Given the description of an element on the screen output the (x, y) to click on. 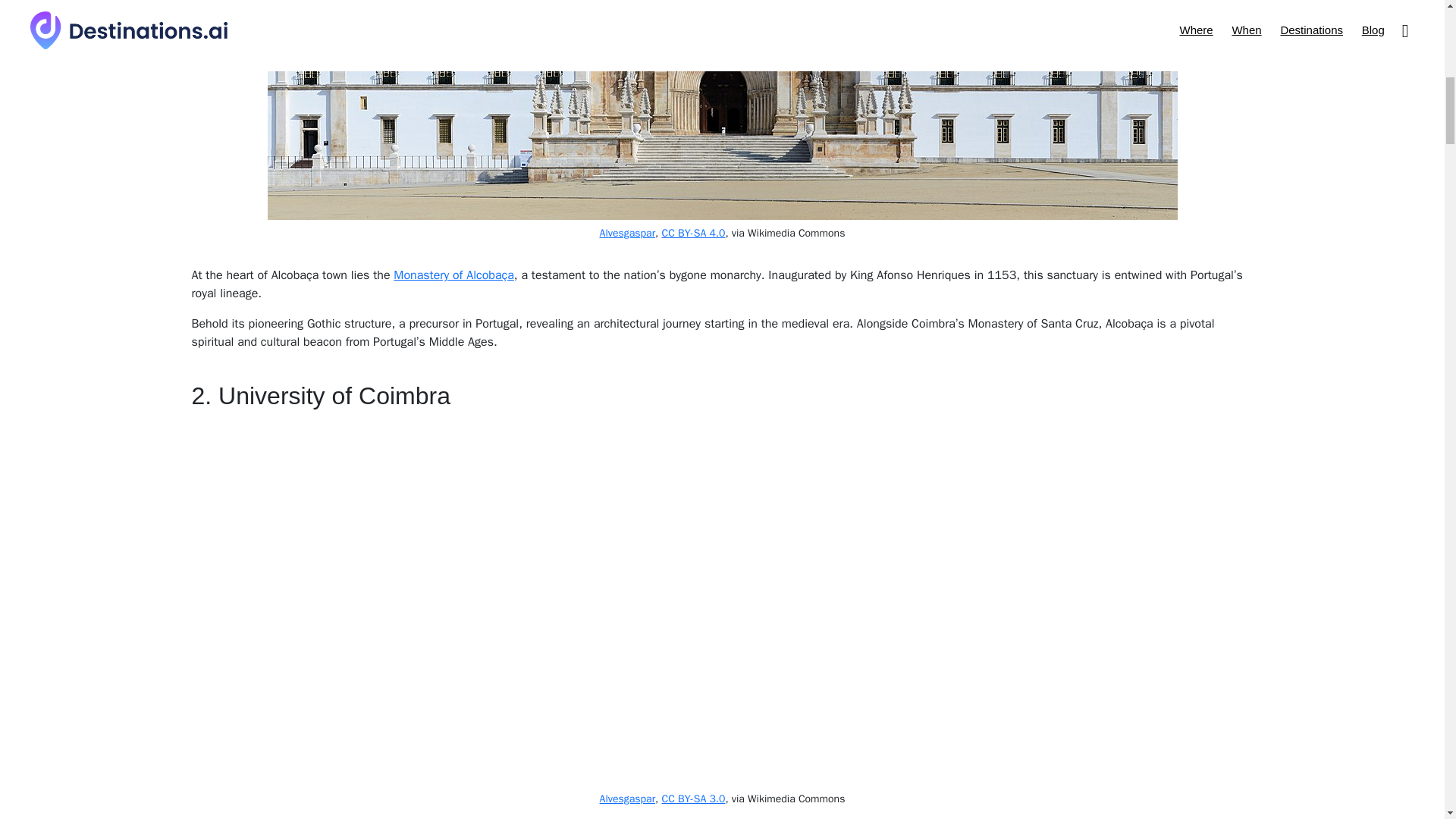
Alvesgaspar (627, 798)
CC BY-SA 3.0 (693, 798)
Alvesgaspar (627, 232)
CC BY-SA 4.0 (693, 232)
